Given the description of an element on the screen output the (x, y) to click on. 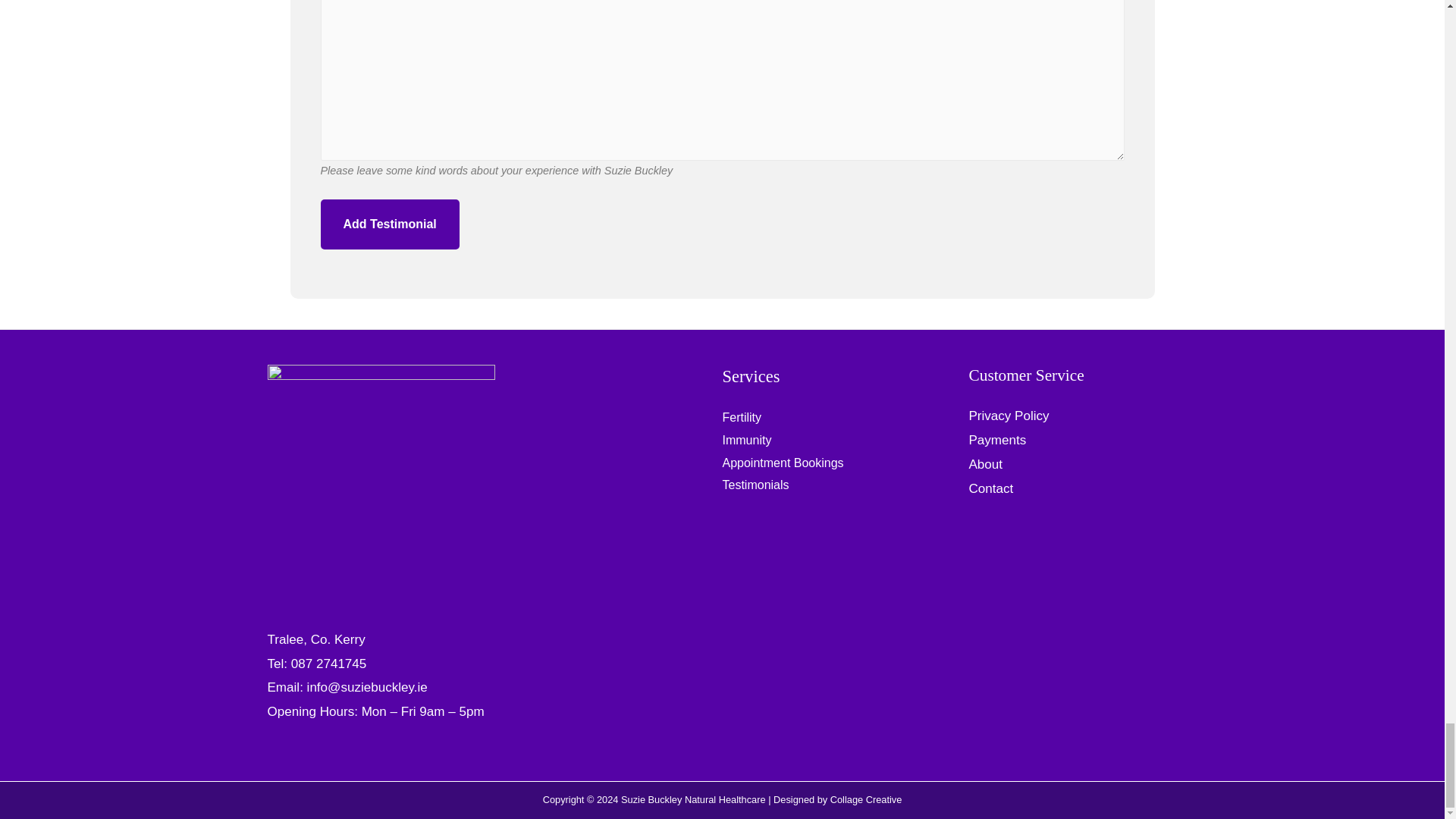
About (986, 464)
Privacy Policy (1009, 415)
Add Testimonial (389, 224)
Contact (991, 488)
Testimonials (755, 484)
Add Testimonial (389, 224)
Fertility (741, 417)
Payments (997, 440)
Appointment Bookings (782, 462)
Immunity (746, 440)
